Given the description of an element on the screen output the (x, y) to click on. 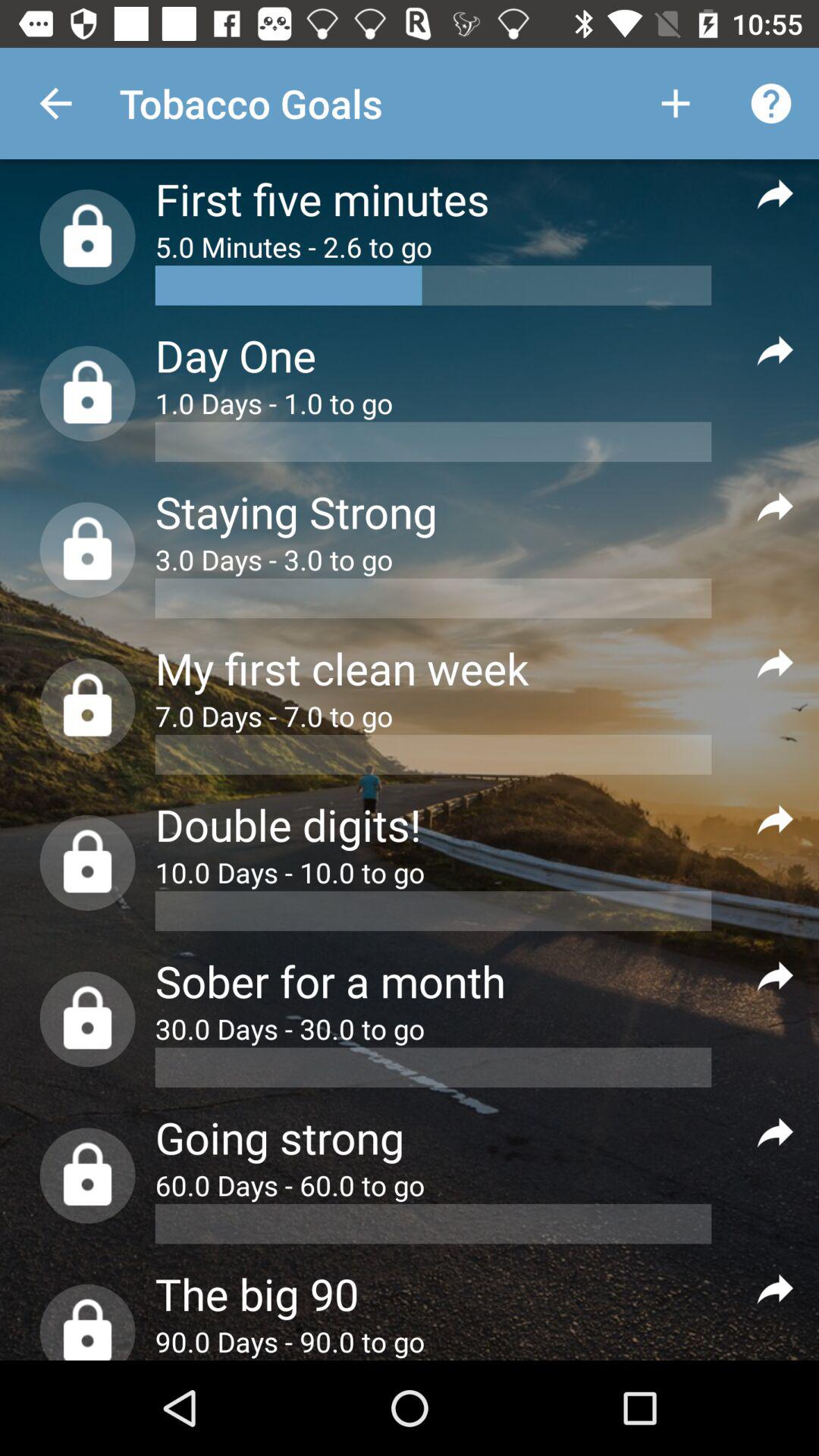
share goal status (775, 1131)
